Given the description of an element on the screen output the (x, y) to click on. 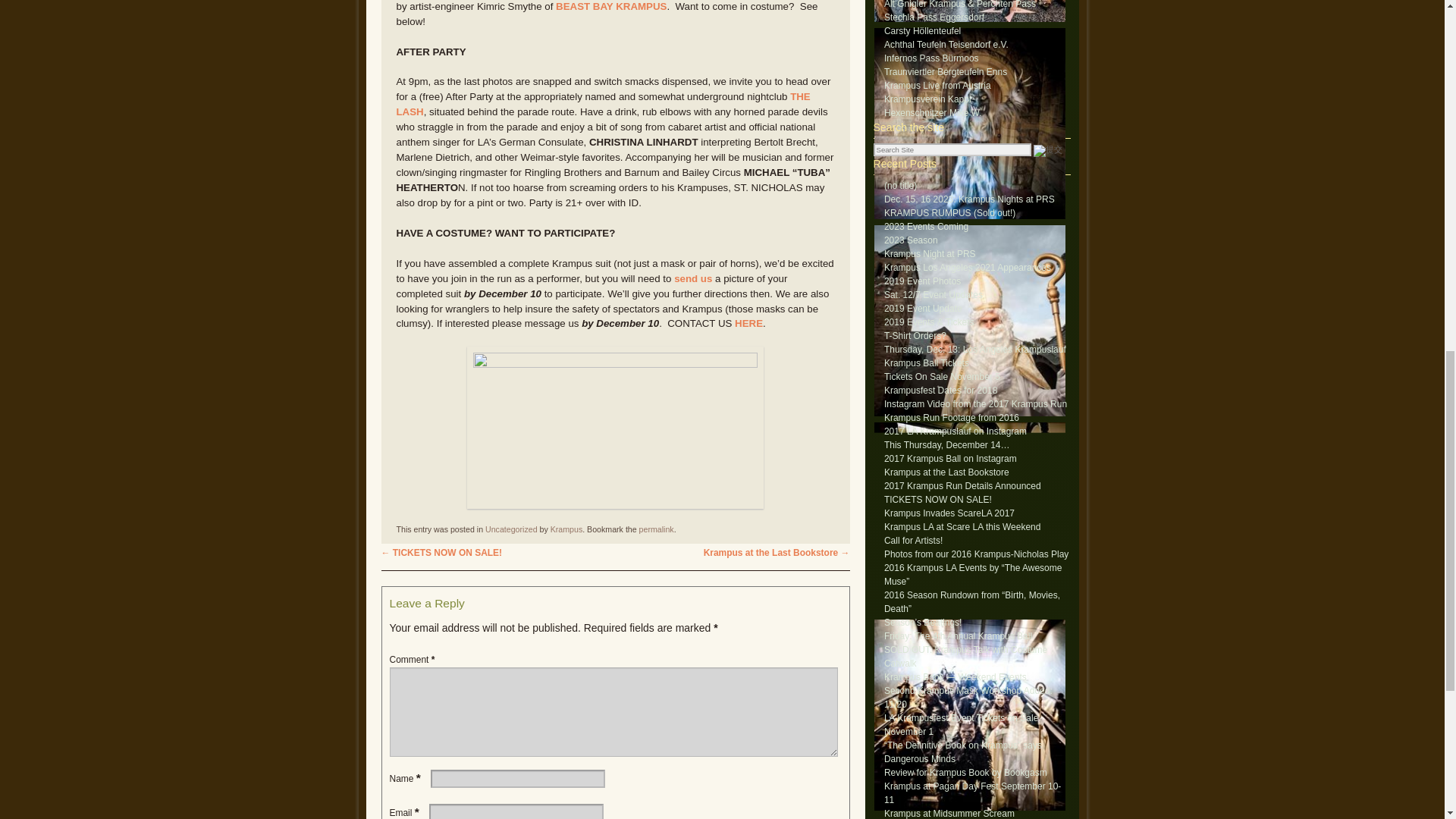
send us (692, 278)
HERE (748, 323)
permalink (656, 528)
Permalink to 2017 Krampus Run Details Announced (656, 528)
Uncategorized (510, 528)
THE LASH (602, 103)
Krampus (566, 528)
BEAST BAY KRAMPUS (611, 6)
